Given the description of an element on the screen output the (x, y) to click on. 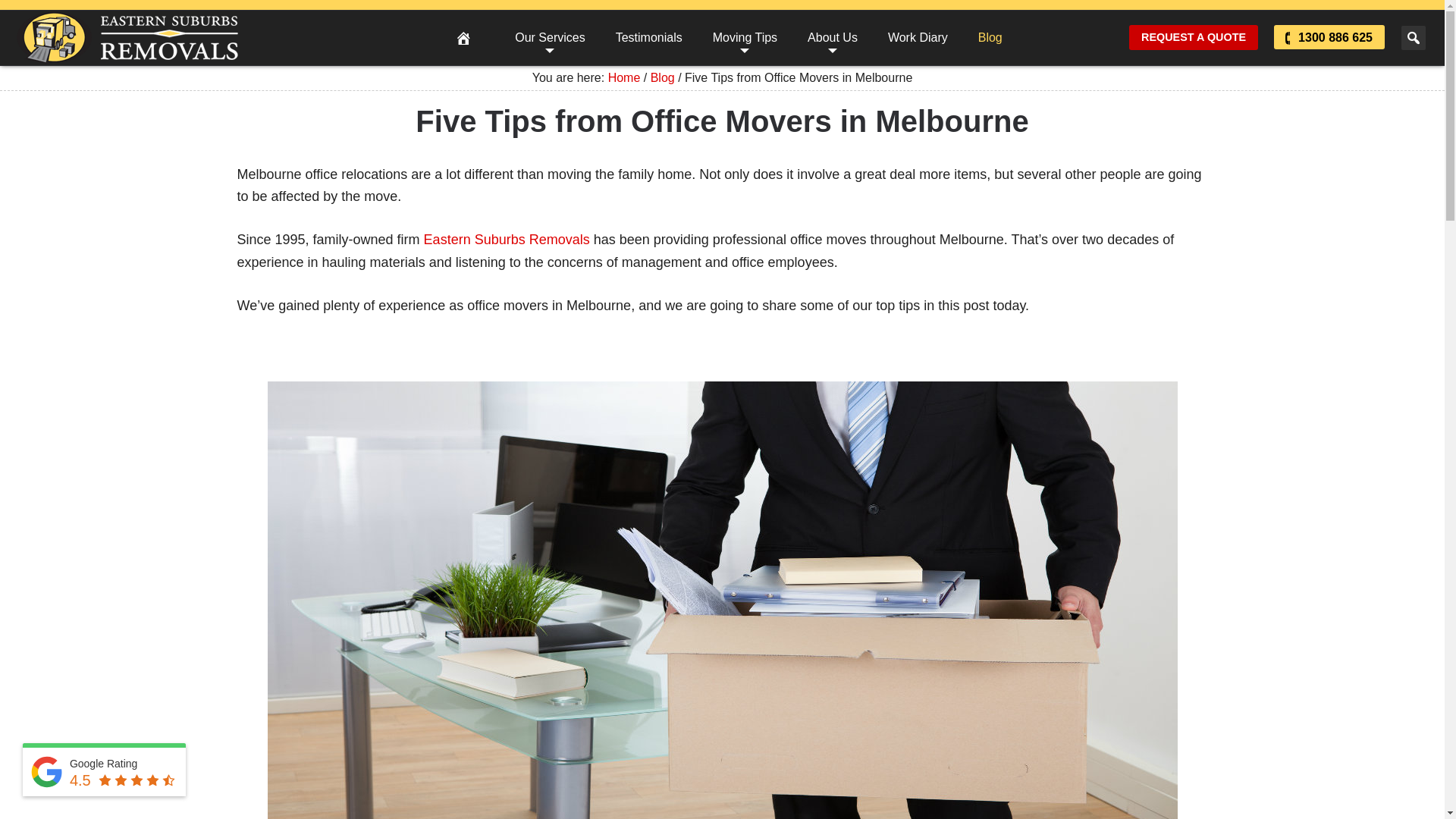
Testimonials (648, 37)
REQUEST A QUOTE (1193, 37)
EASTERN SUBURBS REMOVALS (127, 37)
Work Diary (917, 37)
Our Services (549, 37)
Blog (989, 37)
Eastern Suburbs Removals (506, 239)
1300 886 625 (1335, 37)
Get a free furniture removal quote here (1193, 37)
Home (624, 77)
